Given the description of an element on the screen output the (x, y) to click on. 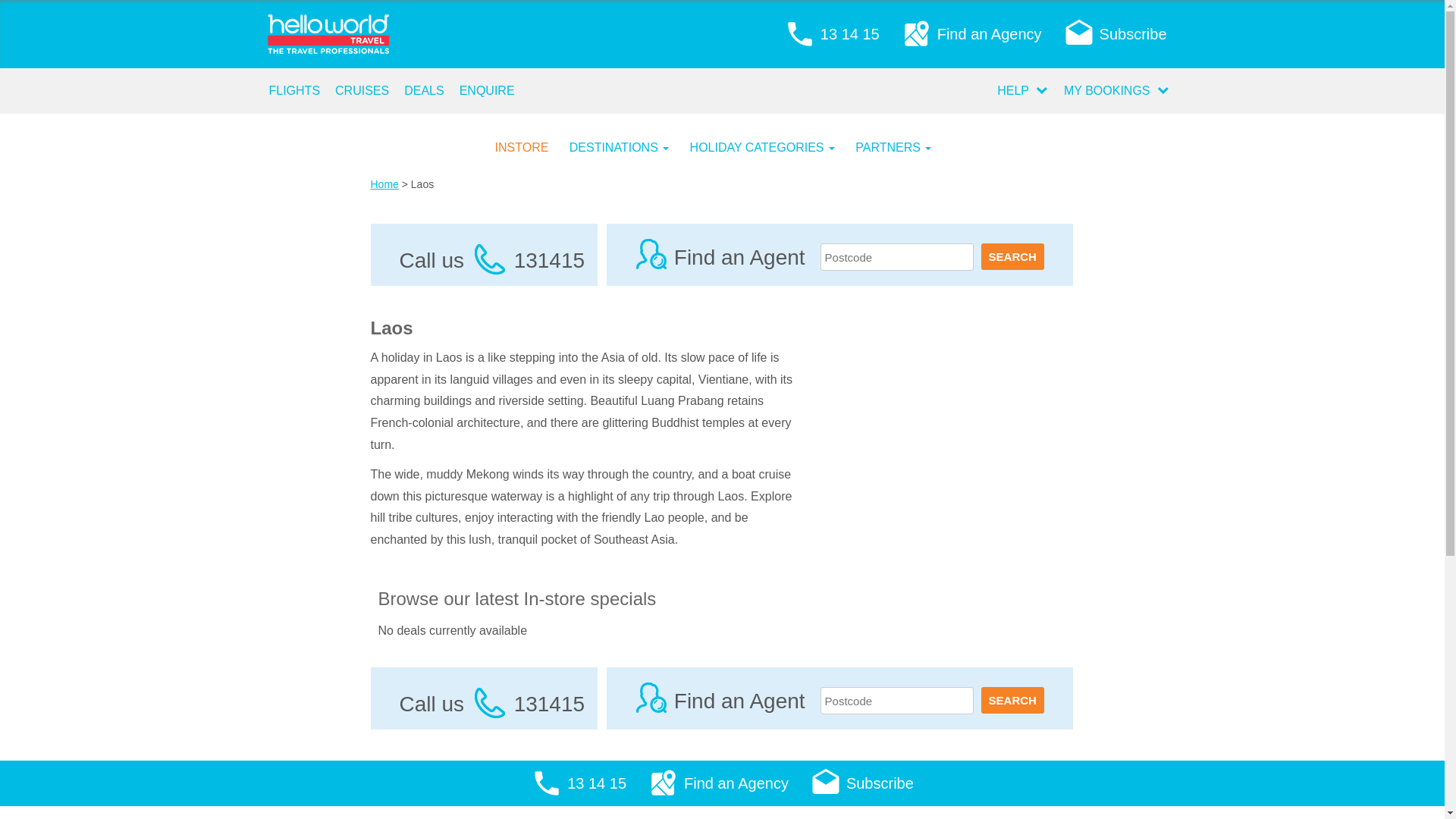
Find an Agency Element type: text (718, 783)
Subscribe Element type: text (861, 783)
Find an Agency Element type: text (971, 33)
DESTINATIONS Element type: text (628, 141)
13 14 15 Element type: text (578, 783)
PARTNERS Element type: text (902, 141)
INSTORE
(CURRENT) Element type: text (531, 141)
HOLIDAY CATEGORIES Element type: text (771, 141)
SEARCH Element type: text (1012, 256)
Jump to navigation Element type: text (19, 0)
DEALS Element type: text (423, 90)
Subscribe Element type: text (1114, 33)
ENQUIRE Element type: text (486, 90)
SEARCH Element type: text (1012, 700)
13 14 15 Element type: text (831, 33)
Home Element type: text (384, 184)
CRUISES Element type: text (361, 90)
FLIGHTS Element type: text (293, 90)
